Given the description of an element on the screen output the (x, y) to click on. 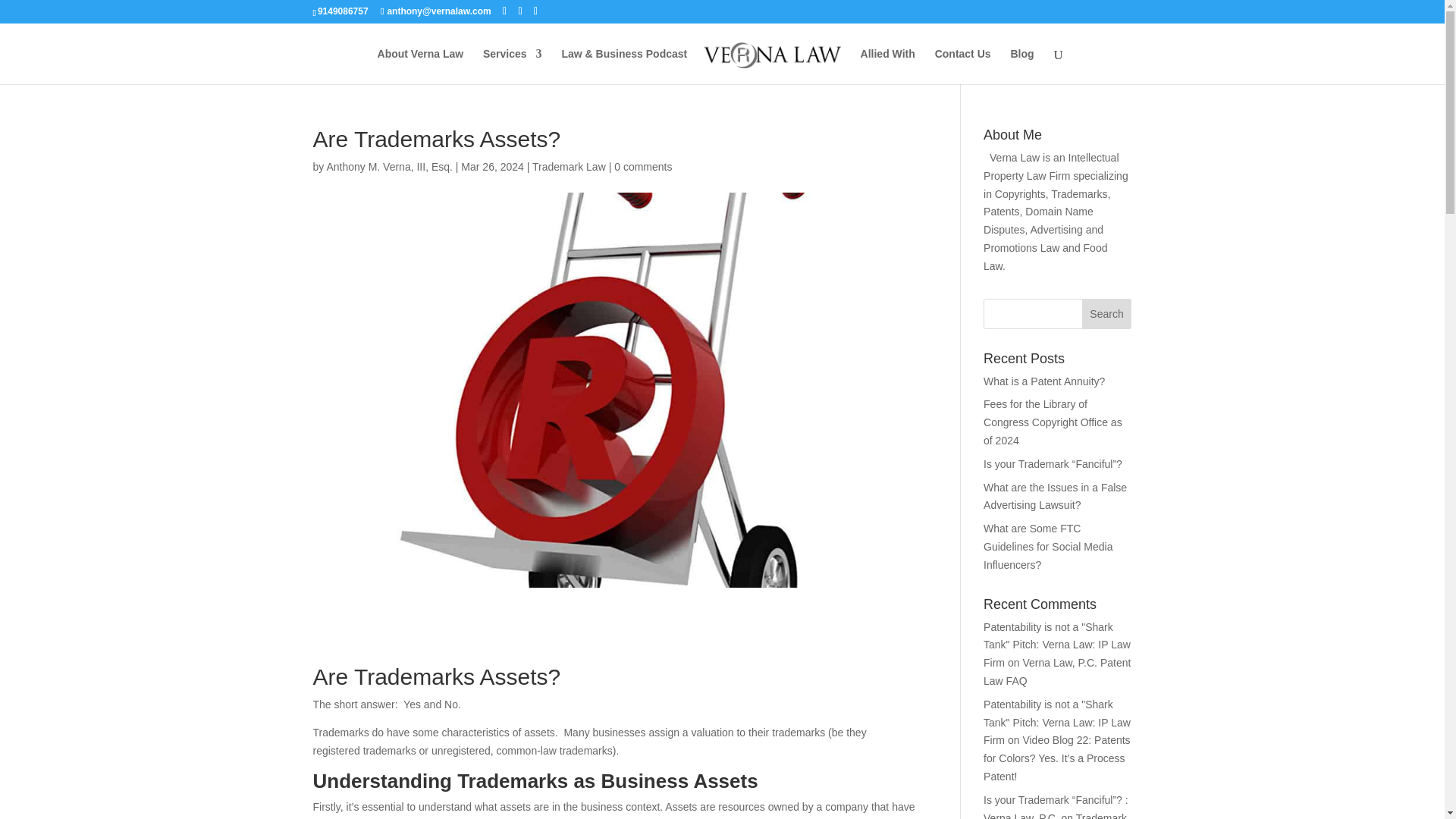
Posts by Anthony M. Verna, III, Esq. (389, 166)
Contact Us (962, 66)
Allied With (887, 66)
0 comments (642, 166)
Anthony M. Verna, III, Esq. (389, 166)
About Verna Law (420, 66)
Trademark Law (568, 166)
Search (1106, 313)
Services (512, 66)
